Given the description of an element on the screen output the (x, y) to click on. 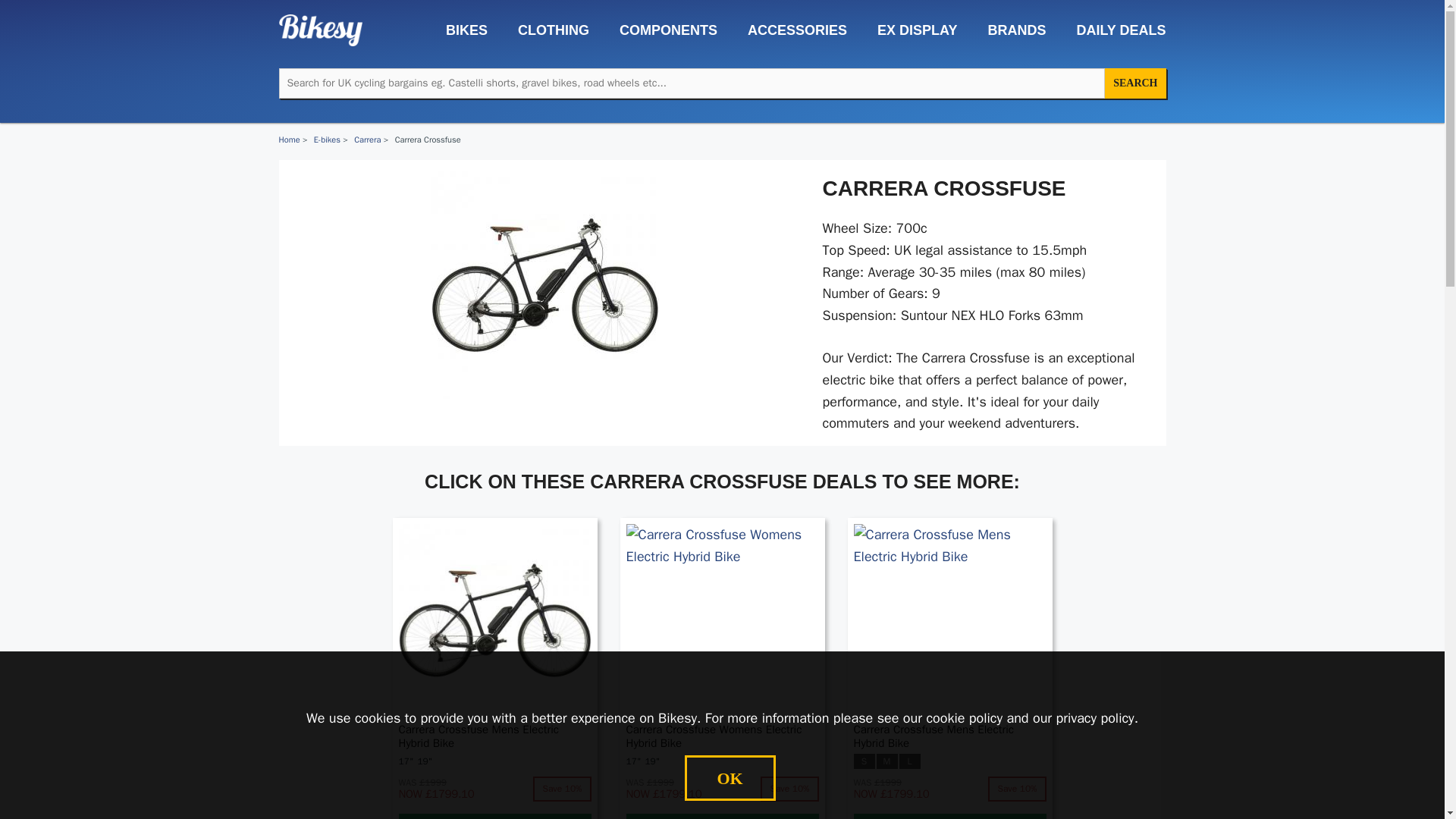
Search (1135, 82)
Bikesy privacy policy (1094, 718)
Search for: (692, 82)
Search (1135, 82)
privacy policy (1094, 718)
Bikesy (320, 29)
Carrera (366, 139)
Search (1135, 82)
Bikesy cookie policy (964, 718)
CLOTHING (545, 30)
Bikesy (320, 30)
BRANDS (1008, 30)
E-bikes (327, 139)
OK (729, 777)
ACCESSORIES (789, 30)
